Given the description of an element on the screen output the (x, y) to click on. 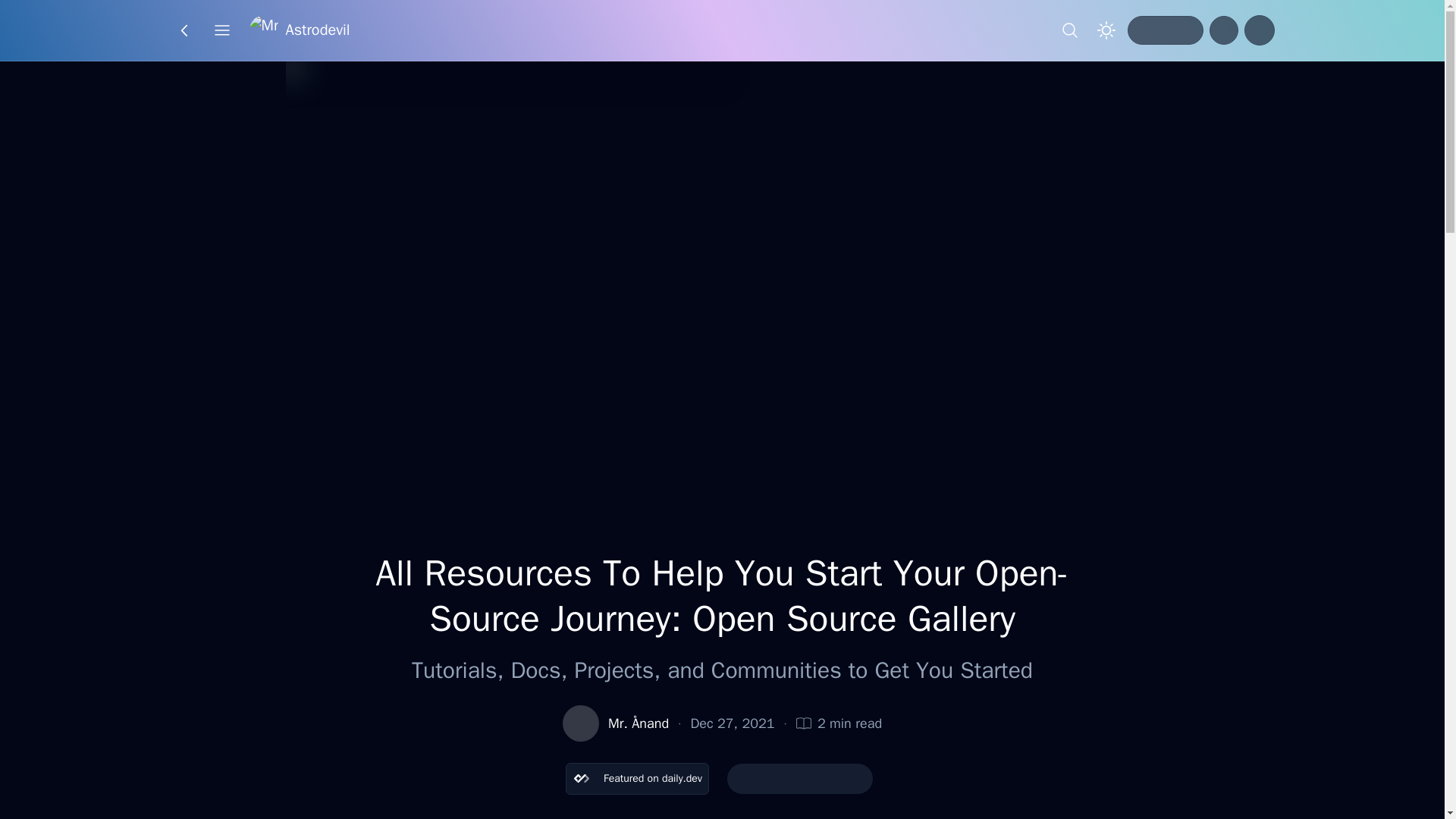
Astrodevil (298, 30)
Dec 27, 2021 (732, 722)
